Given the description of an element on the screen output the (x, y) to click on. 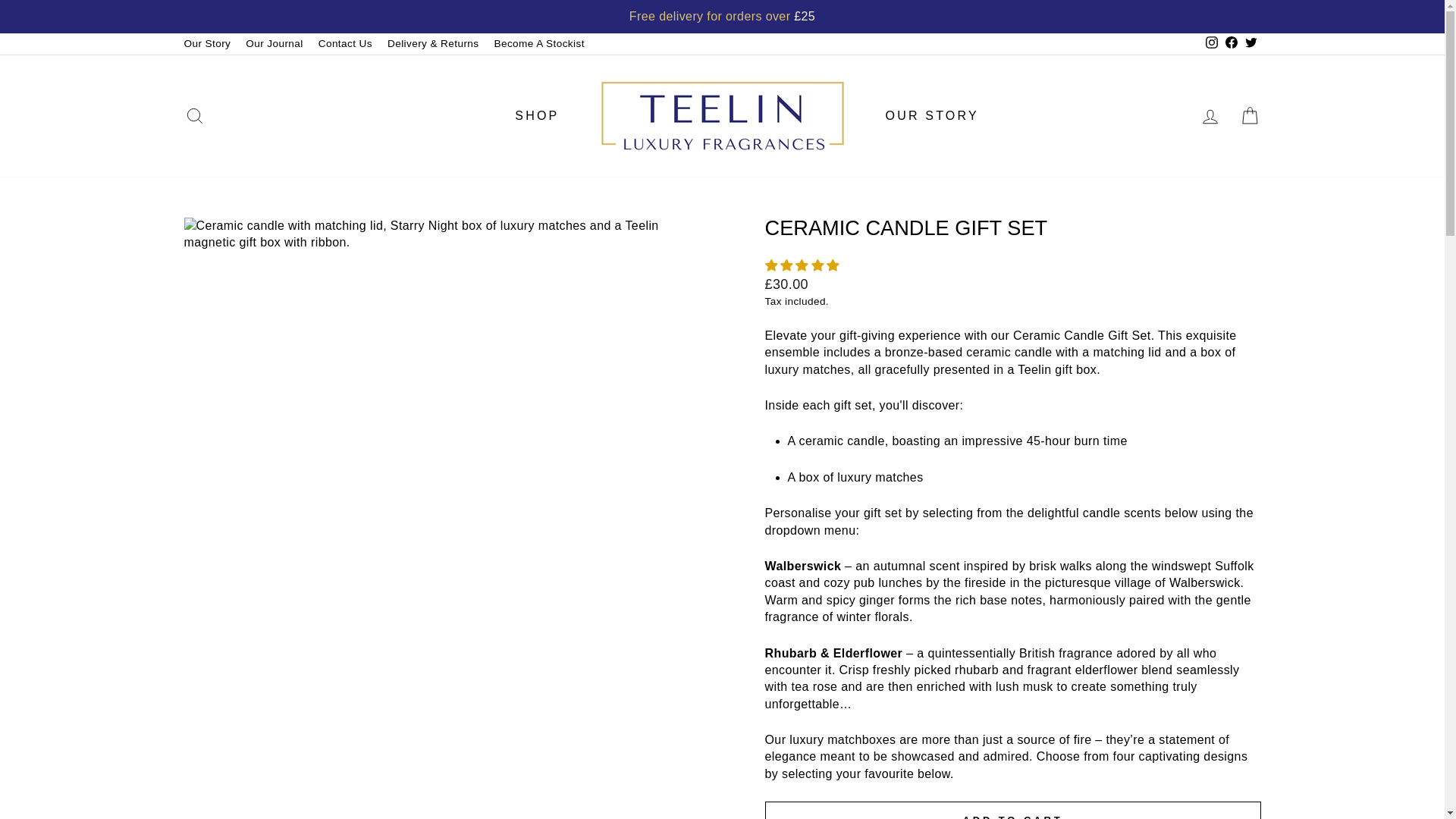
Our Story (207, 43)
SEARCH (194, 115)
Teelin Luxury Fragrances on Instagram (1211, 43)
Teelin Luxury Fragrances on Facebook (1230, 43)
Instagram (1211, 43)
Our Journal (274, 43)
Become A Stockist (538, 43)
Facebook (1230, 43)
Twitter (1250, 43)
